Given the description of an element on the screen output the (x, y) to click on. 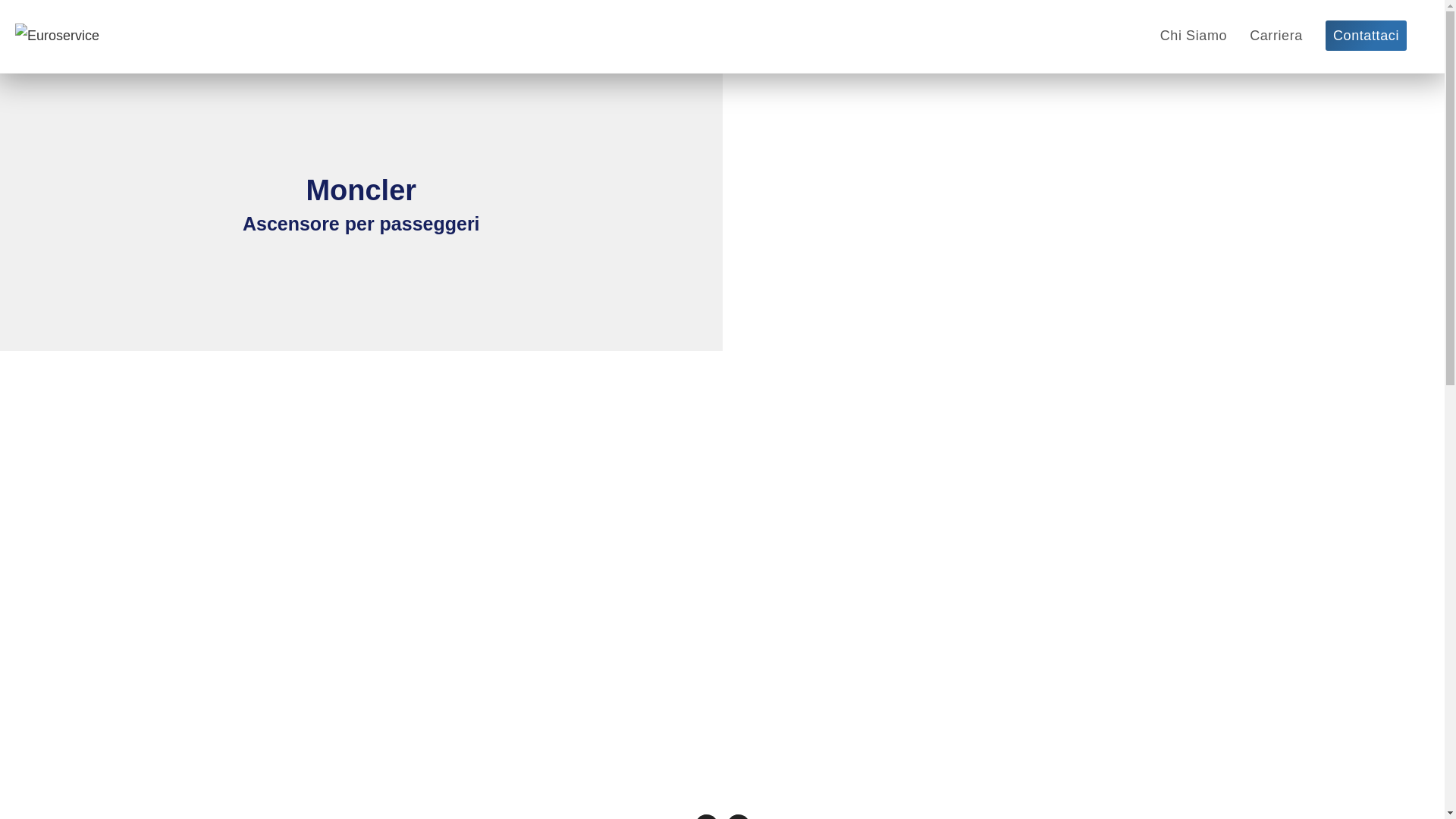
Chi Siamo Element type: text (1193, 36)
Contattaci Element type: text (1366, 36)
Carriera Element type: text (1276, 36)
